Given the description of an element on the screen output the (x, y) to click on. 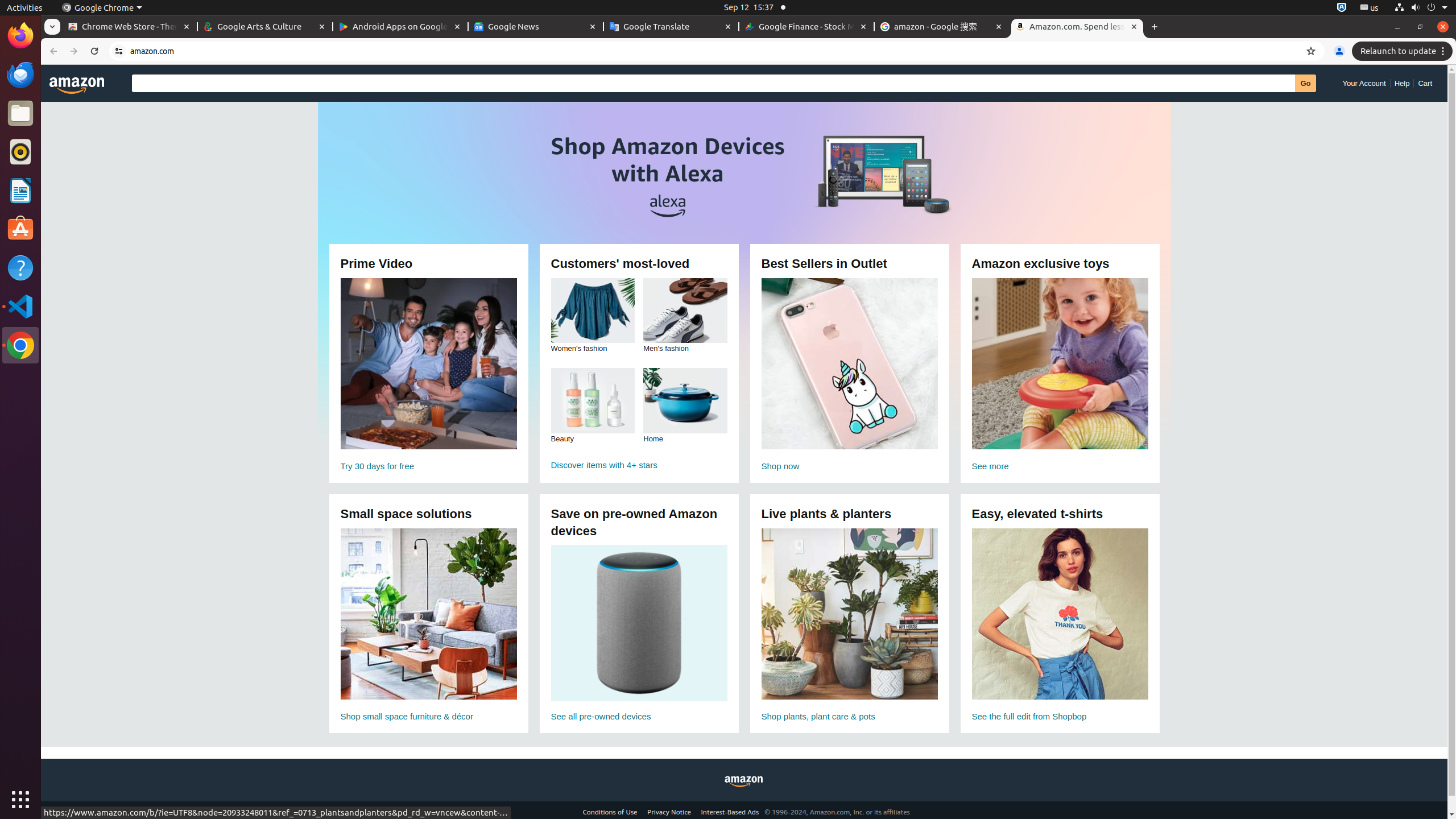
Save on pre-owned Amazon devices See all pre-owned devices Element type: link (638, 635)
Google News - Memory usage - 49.2 MB Element type: page-tab (535, 26)
Bookmark this tab Element type: push-button (1310, 51)
Relaunch to update Element type: push-button (1403, 50)
Google Chrome Element type: push-button (20, 344)
